Given the description of an element on the screen output the (x, y) to click on. 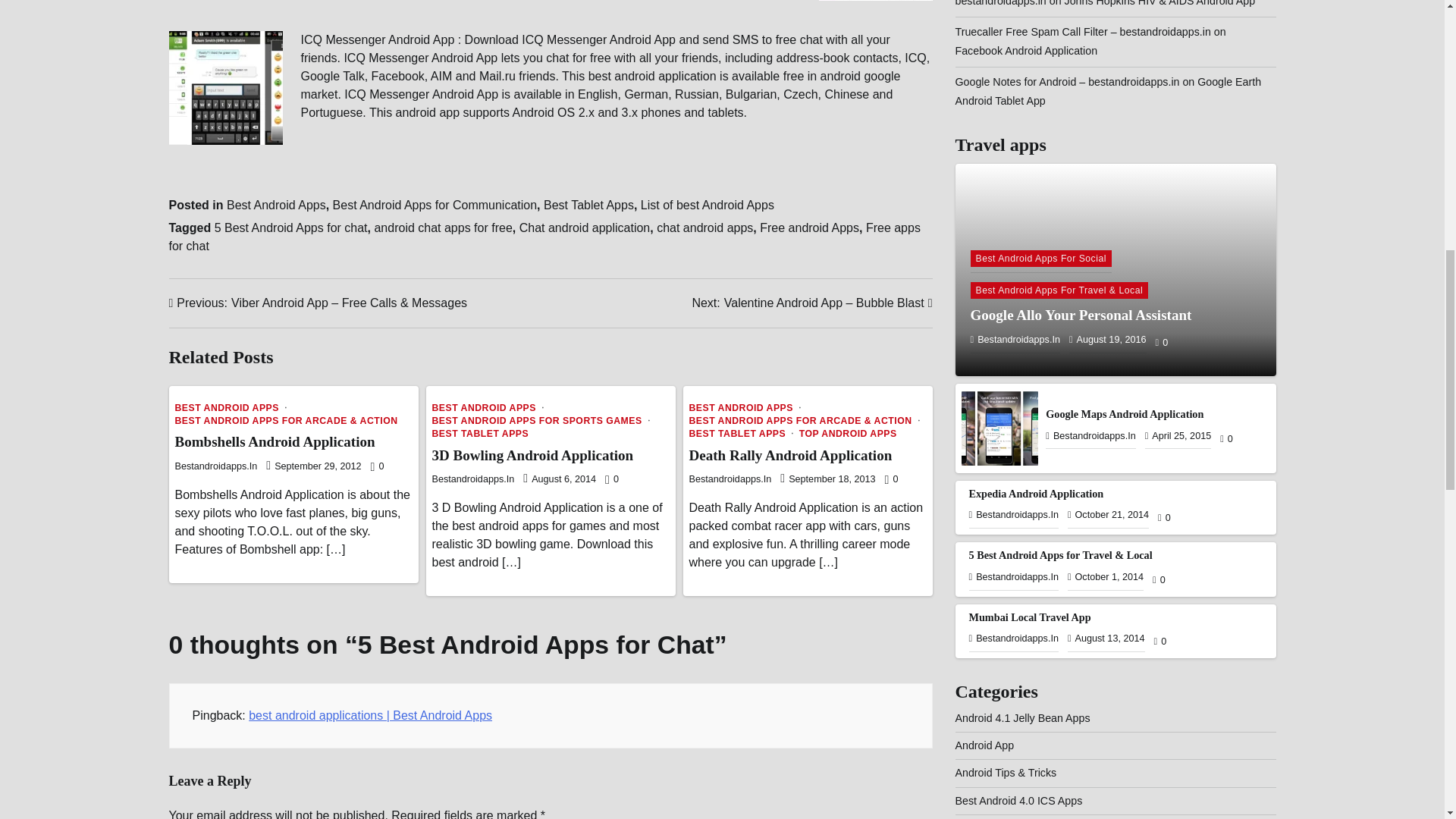
best android app ICQ messenger (225, 87)
android chat apps for free (443, 227)
chat android apps (704, 227)
Best Android Apps for Communication (435, 205)
Free android Apps (809, 227)
Best Tablet Apps (588, 205)
List of best Android Apps (707, 205)
5 Best Android Apps for chat (291, 227)
Chat android application (584, 227)
Free apps for chat (544, 236)
